Given the description of an element on the screen output the (x, y) to click on. 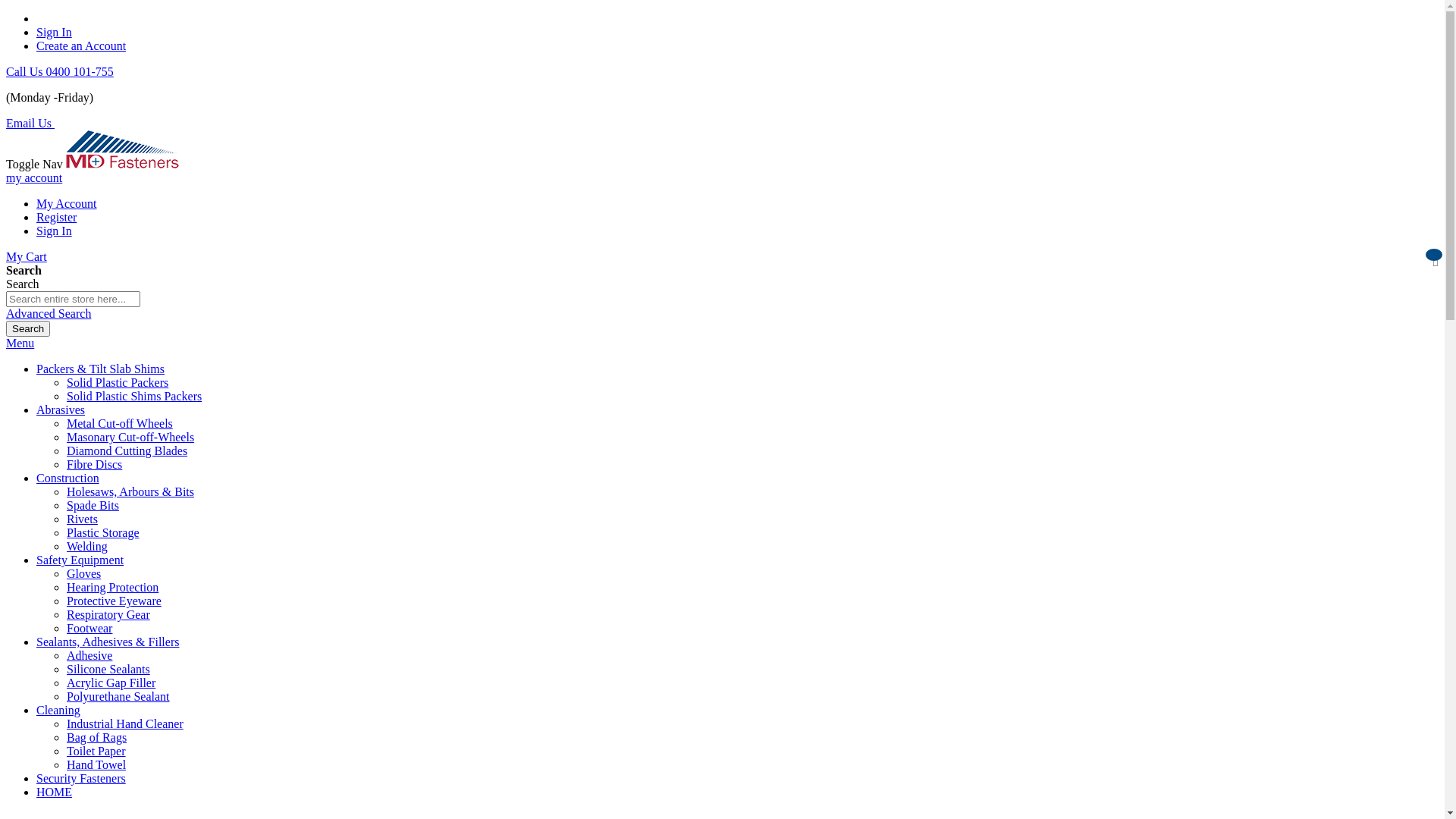
Sign In Element type: text (54, 230)
Industrial Hand Cleaner Element type: text (124, 723)
Bag of Rags Element type: text (96, 737)
Solid Plastic Packers Element type: text (117, 382)
Register Element type: text (56, 216)
MD Fasteners Element type: hover (121, 149)
Menu Element type: text (20, 342)
Sign In Element type: text (54, 31)
Hearing Protection Element type: text (112, 586)
Toilet Paper Element type: text (95, 750)
Hand Towel Element type: text (95, 764)
My Wish List Element type: text (1435, 256)
Respiratory Gear Element type: text (108, 614)
Sealants, Adhesives & Fillers Element type: text (107, 641)
Polyurethane Sealant Element type: text (117, 696)
Diamond Cutting Blades Element type: text (126, 450)
Security Fasteners Element type: text (80, 777)
Adhesive Element type: text (89, 655)
My Account Element type: text (66, 203)
Advanced Search Element type: text (48, 313)
Protective Eyeware Element type: text (113, 600)
Plastic Storage Element type: text (102, 532)
Cleaning Element type: text (58, 709)
Fibre Discs Element type: text (94, 464)
Spade Bits Element type: text (92, 504)
Silicone Sealants Element type: text (108, 668)
Footwear Element type: text (89, 627)
Email Us  Element type: text (30, 122)
Call Us 0400 101-755 Element type: text (59, 71)
Masonary Cut-off-Wheels Element type: text (130, 436)
Safety Equipment Element type: text (79, 559)
Solid Plastic Shims Packers Element type: text (133, 395)
Gloves Element type: text (83, 573)
My Cart Element type: text (26, 256)
Acrylic Gap Filler Element type: text (110, 682)
Packers & Tilt Slab Shims Element type: text (100, 368)
Search Element type: text (28, 328)
Welding Element type: text (86, 545)
Rivets Element type: text (81, 518)
Holesaws, Arbours & Bits Element type: text (130, 491)
Abrasives Element type: text (60, 409)
Construction Element type: text (67, 477)
HOME Element type: text (54, 791)
MD Fasteners Element type: hover (121, 163)
my account Element type: text (34, 177)
Metal Cut-off Wheels Element type: text (119, 423)
Create an Account Element type: text (80, 45)
